Given the description of an element on the screen output the (x, y) to click on. 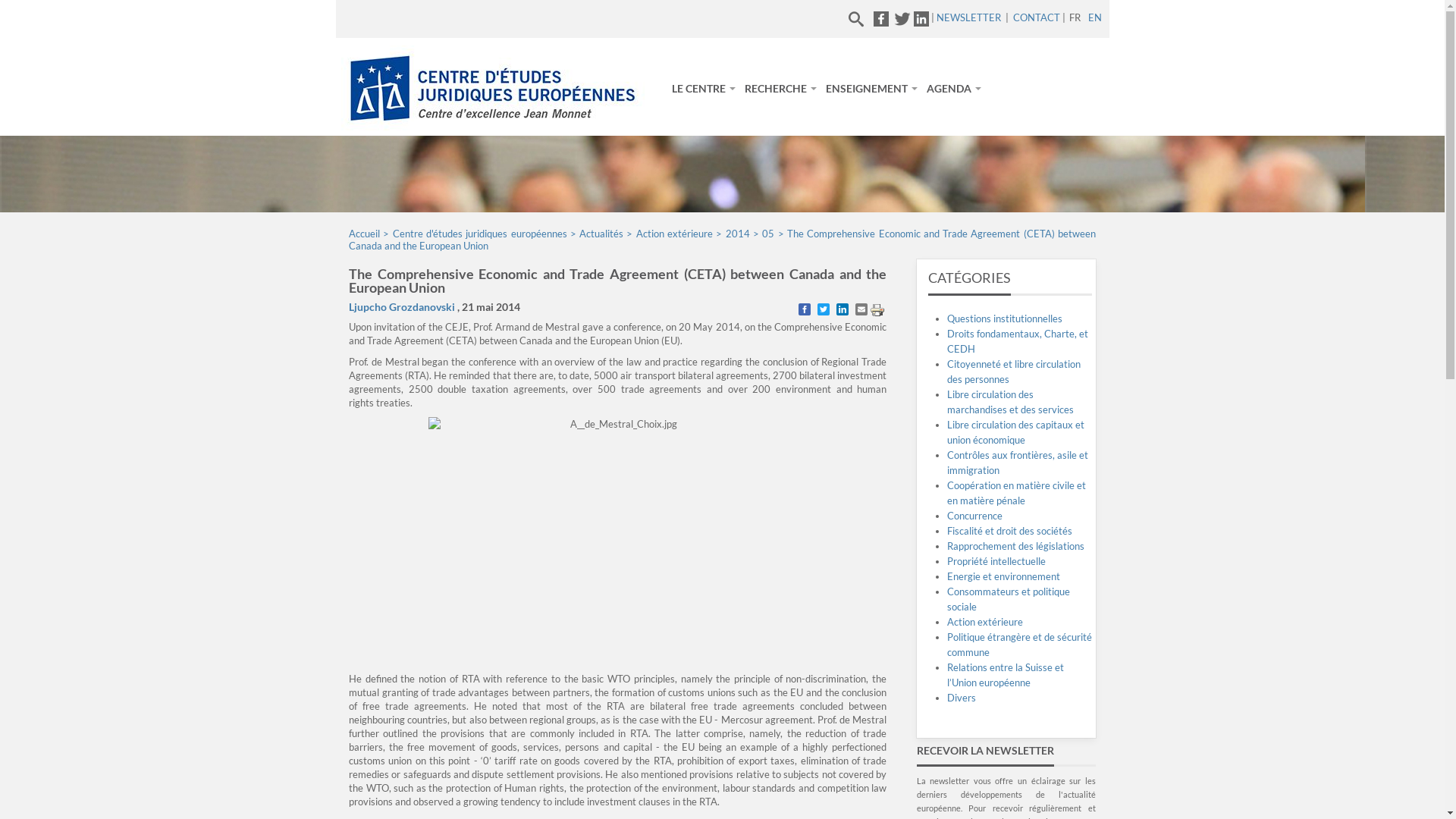
Suivez-nous sur Facebook Element type: hover (880, 17)
ENSEIGNEMENT Element type: text (871, 88)
2014 Element type: text (737, 233)
AGENDA Element type: text (953, 88)
CONTACT Element type: text (1036, 17)
NEWSLETTER Element type: text (967, 17)
Suivez-nous sur Twitter Element type: hover (901, 17)
Rechercher Element type: text (827, 18)
Accueil Element type: text (363, 233)
Consommateurs et politique sociale Element type: text (1008, 598)
05 Element type: text (768, 233)
Concurrence Element type: text (974, 515)
Energie et environnement Element type: text (1003, 576)
RECHERCHE Element type: text (780, 88)
Libre circulation des marchandises et des services Element type: text (1010, 401)
LE CENTRE Element type: text (703, 88)
Ljupcho Grozdanovski Element type: text (401, 306)
Divers Element type: text (961, 697)
Droits fondamentaux, Charte, et CEDH Element type: text (1017, 340)
Linkedin Element type: hover (920, 17)
Questions institutionnelles Element type: text (1004, 318)
